Given the description of an element on the screen output the (x, y) to click on. 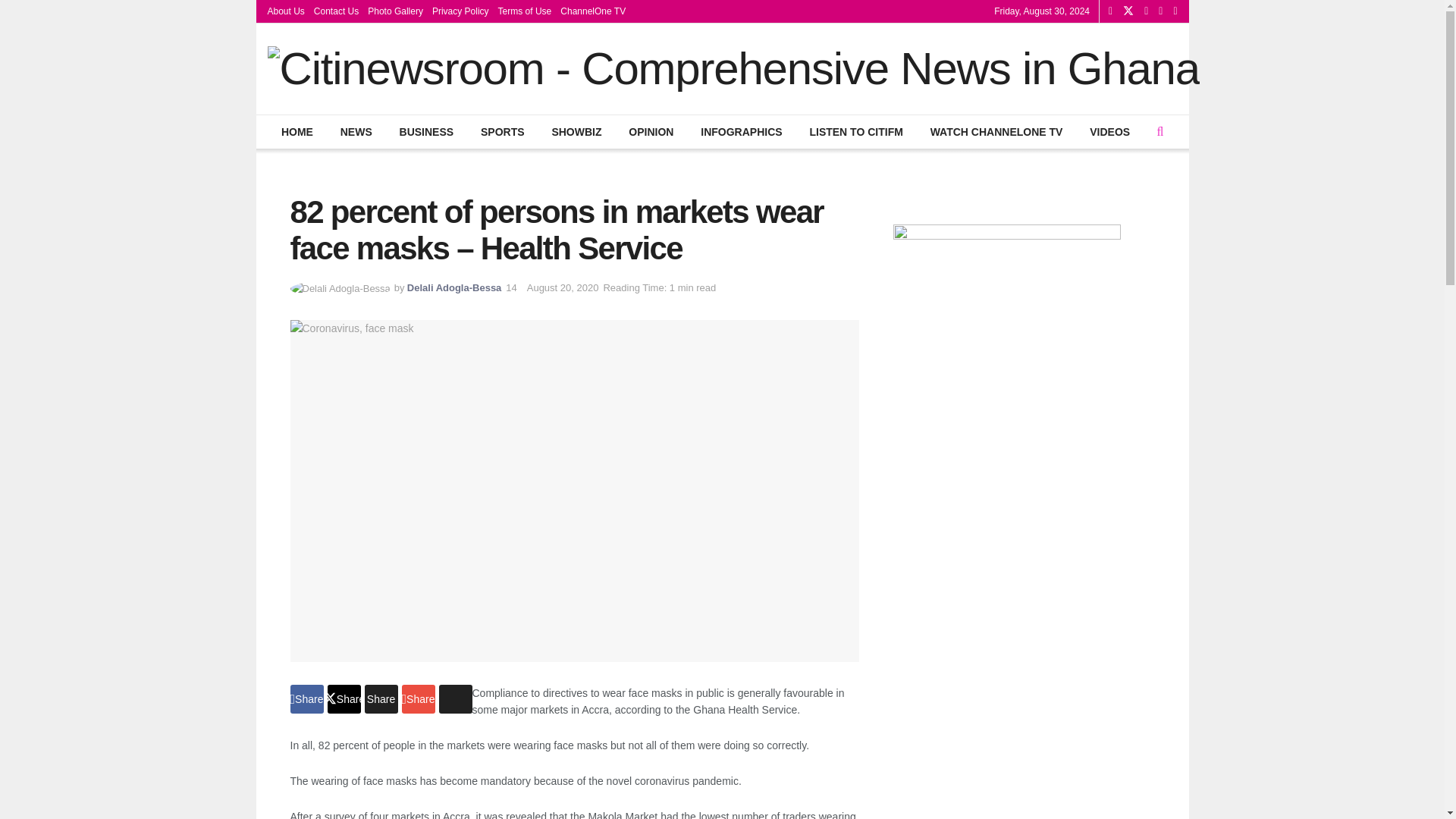
NEWS (355, 131)
Privacy Policy (460, 11)
OPINION (651, 131)
ChannelOne TV (593, 11)
VIDEOS (1109, 131)
HOME (296, 131)
BUSINESS (425, 131)
WATCH CHANNELONE TV (996, 131)
LISTEN TO CITIFM (855, 131)
SHOWBIZ (576, 131)
